Given the description of an element on the screen output the (x, y) to click on. 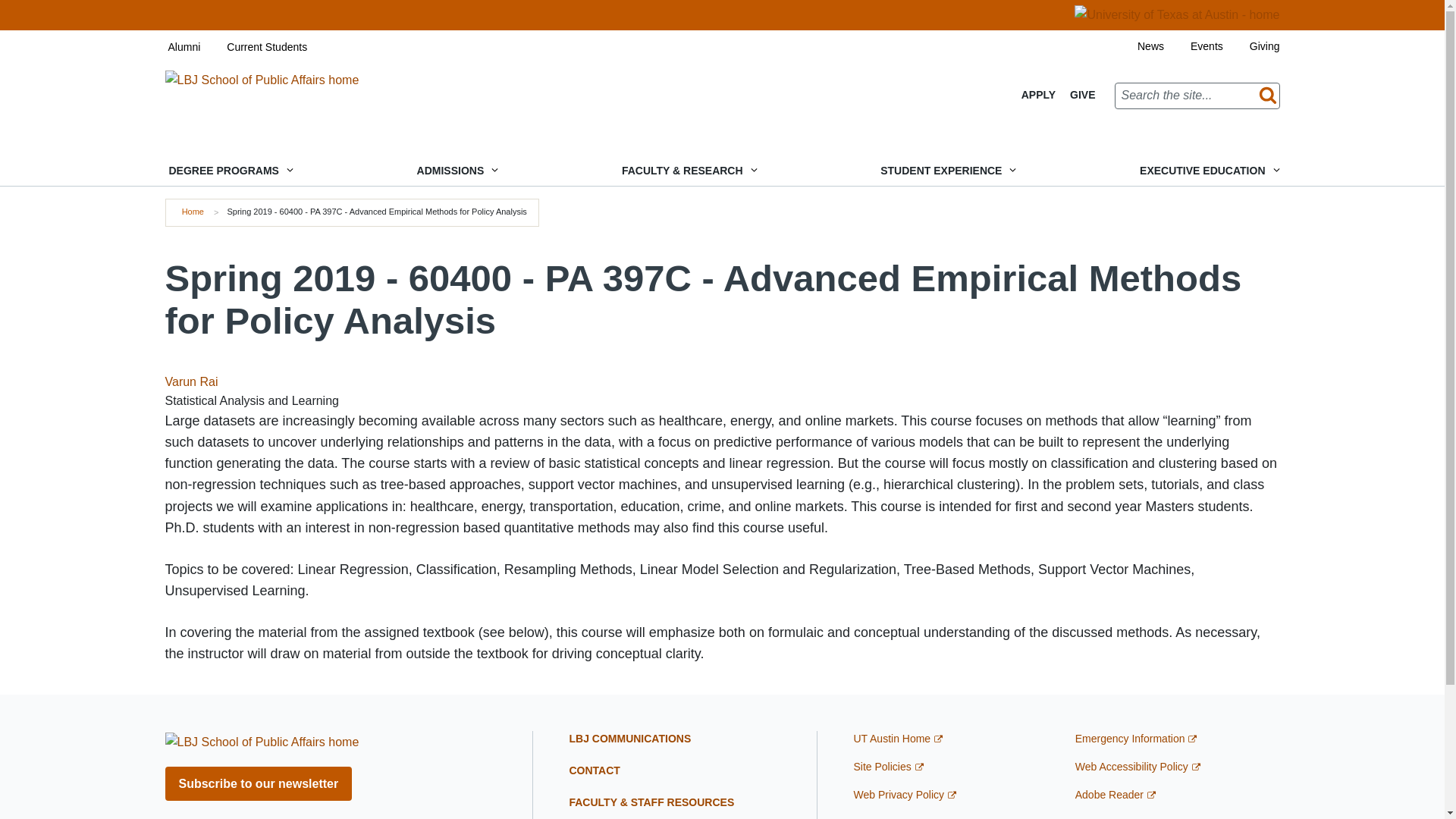
News (1136, 46)
Search (1264, 95)
APPLY (1038, 94)
Current Students (253, 46)
EXECUTIVE EDUCATION (1207, 171)
Home (192, 211)
Home (262, 78)
GIVE (1082, 94)
Giving (1251, 46)
